Given the description of an element on the screen output the (x, y) to click on. 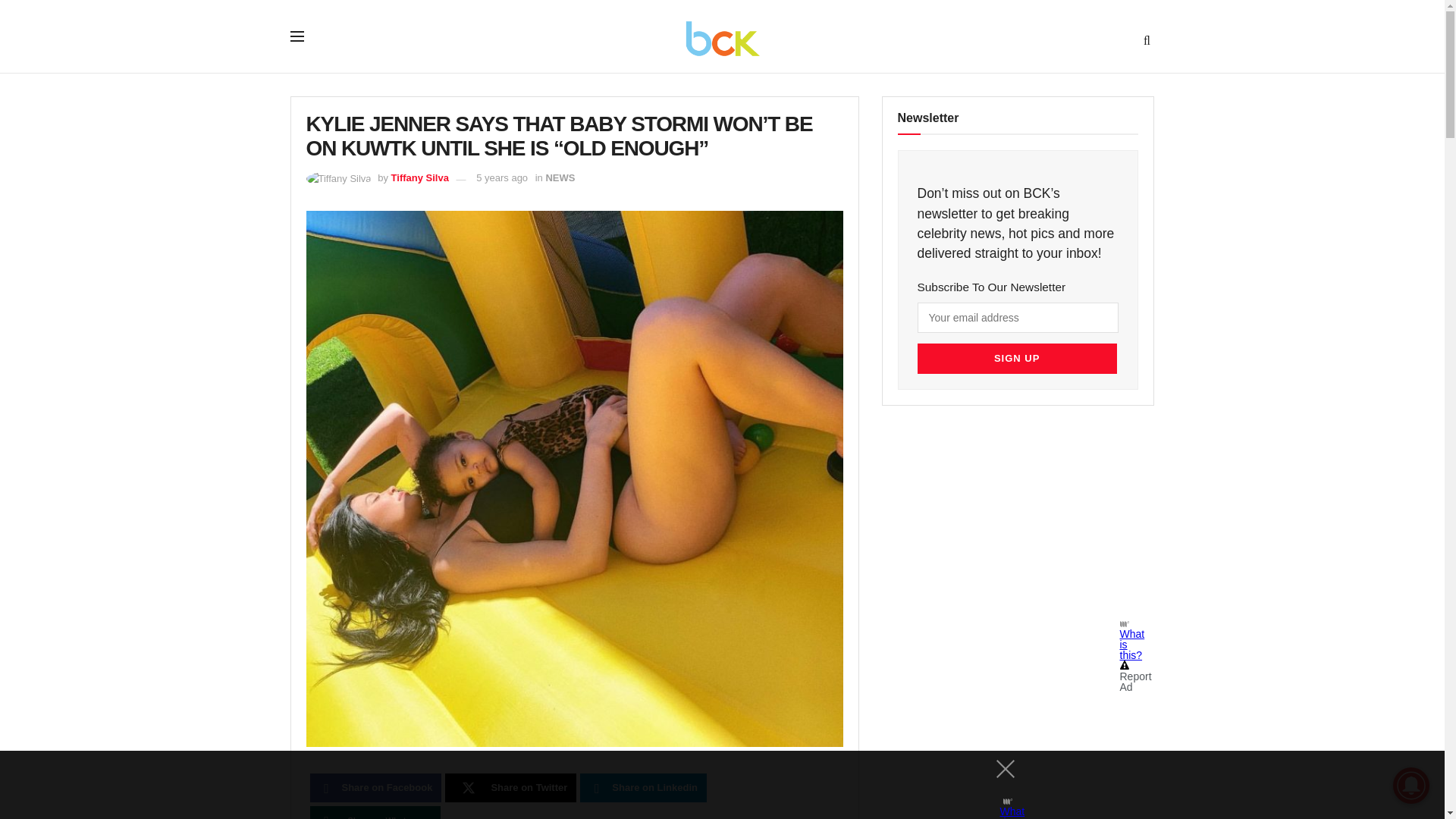
Share on Facebook (374, 787)
Tiffany Silva (419, 177)
Share on Linkedin (642, 787)
3rd party ad content (1021, 523)
3rd party ad content (708, 785)
NEWS (559, 177)
Sign up (1016, 358)
5 years ago (501, 177)
Share on Twitter (510, 787)
Share on Whatsapp (374, 812)
